Given the description of an element on the screen output the (x, y) to click on. 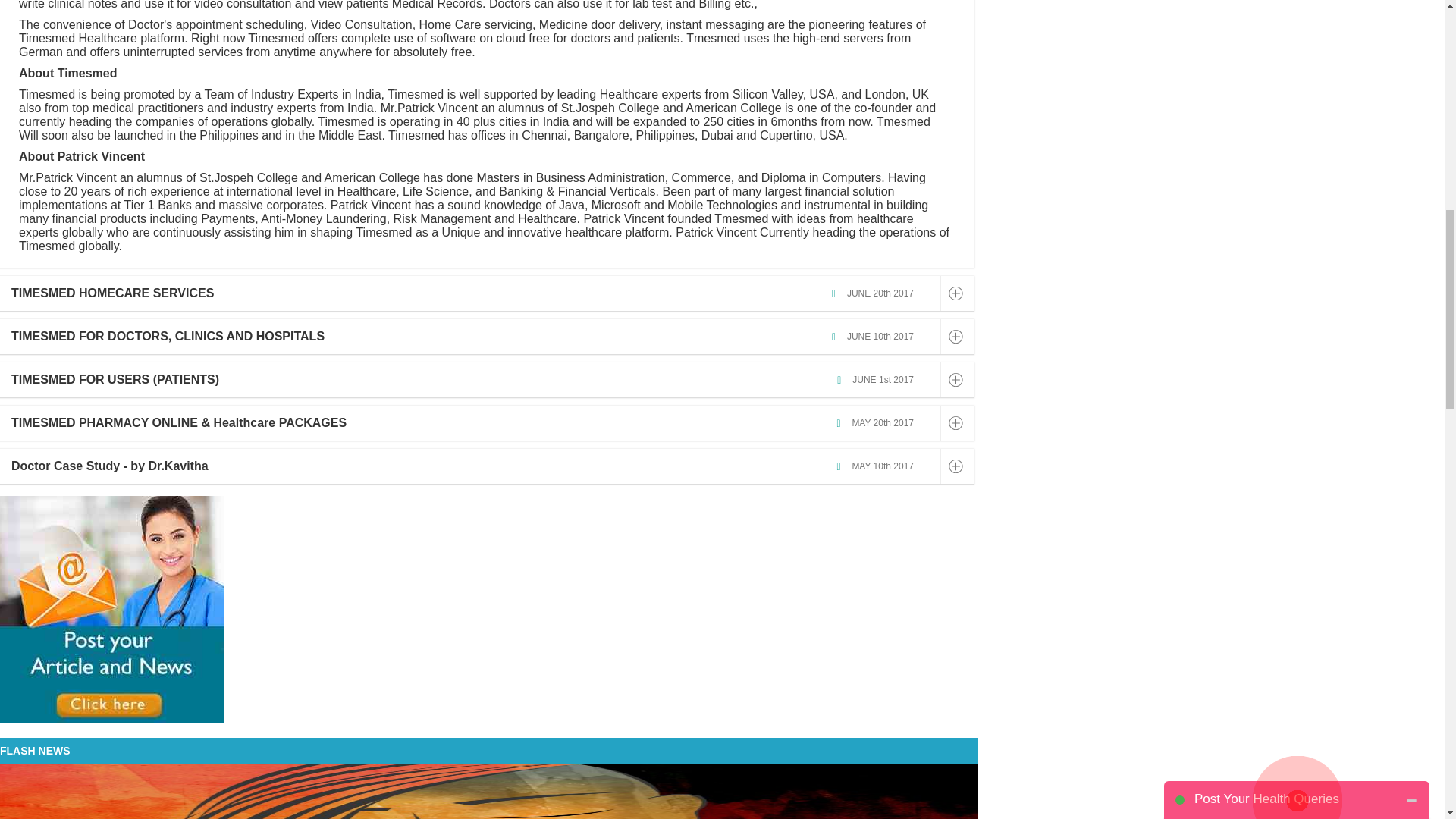
NEAR ME (1398, 46)
